Given the description of an element on the screen output the (x, y) to click on. 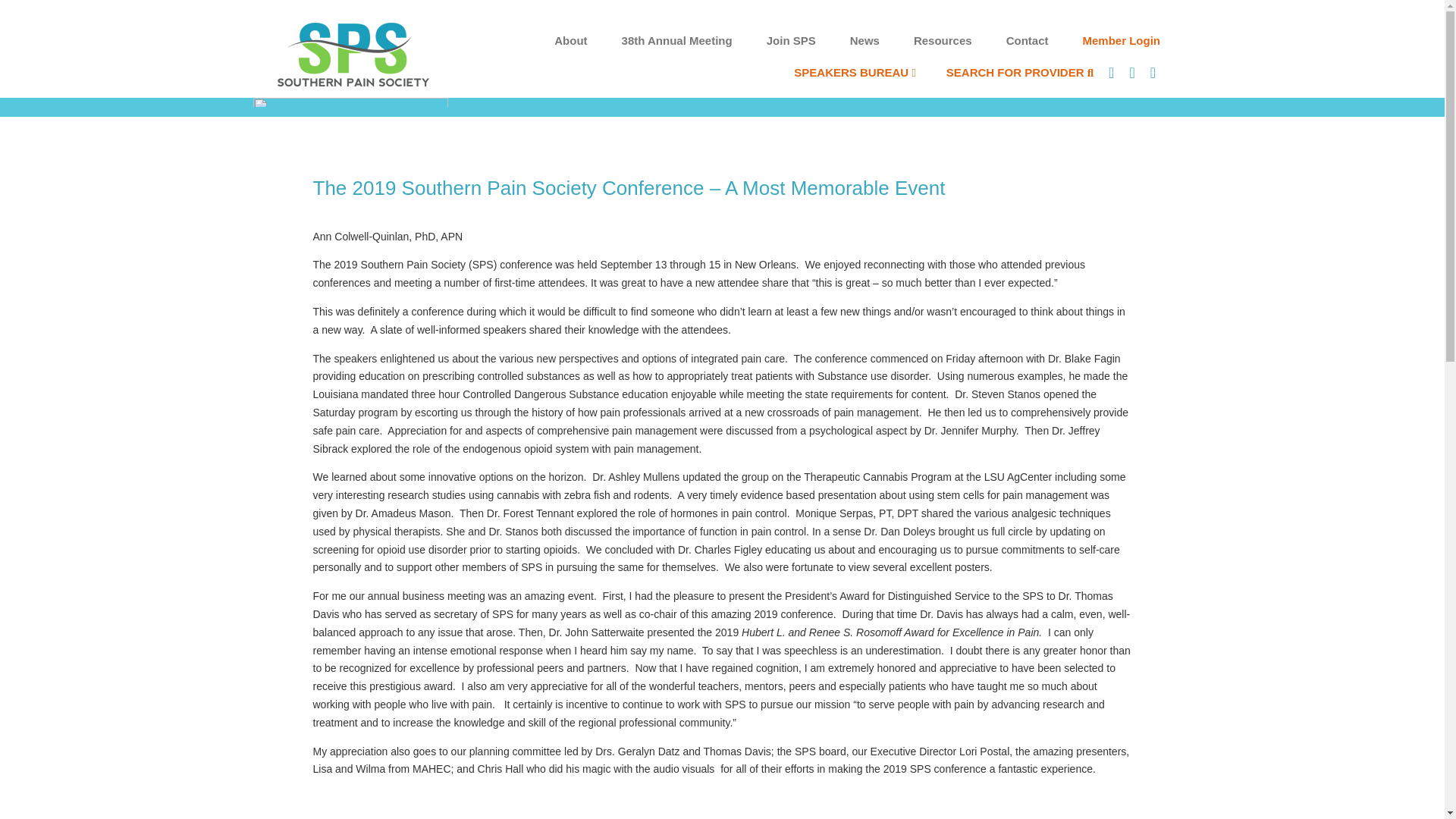
logo (353, 54)
38th Annual Meeting (677, 40)
News (864, 40)
About (570, 40)
SEARCH FOR PROVIDER (1019, 72)
Contact (1026, 40)
Join SPS (791, 40)
Member Login (1121, 40)
SPEAKERS BUREAU (854, 72)
logo-dip (350, 102)
